Given the description of an element on the screen output the (x, y) to click on. 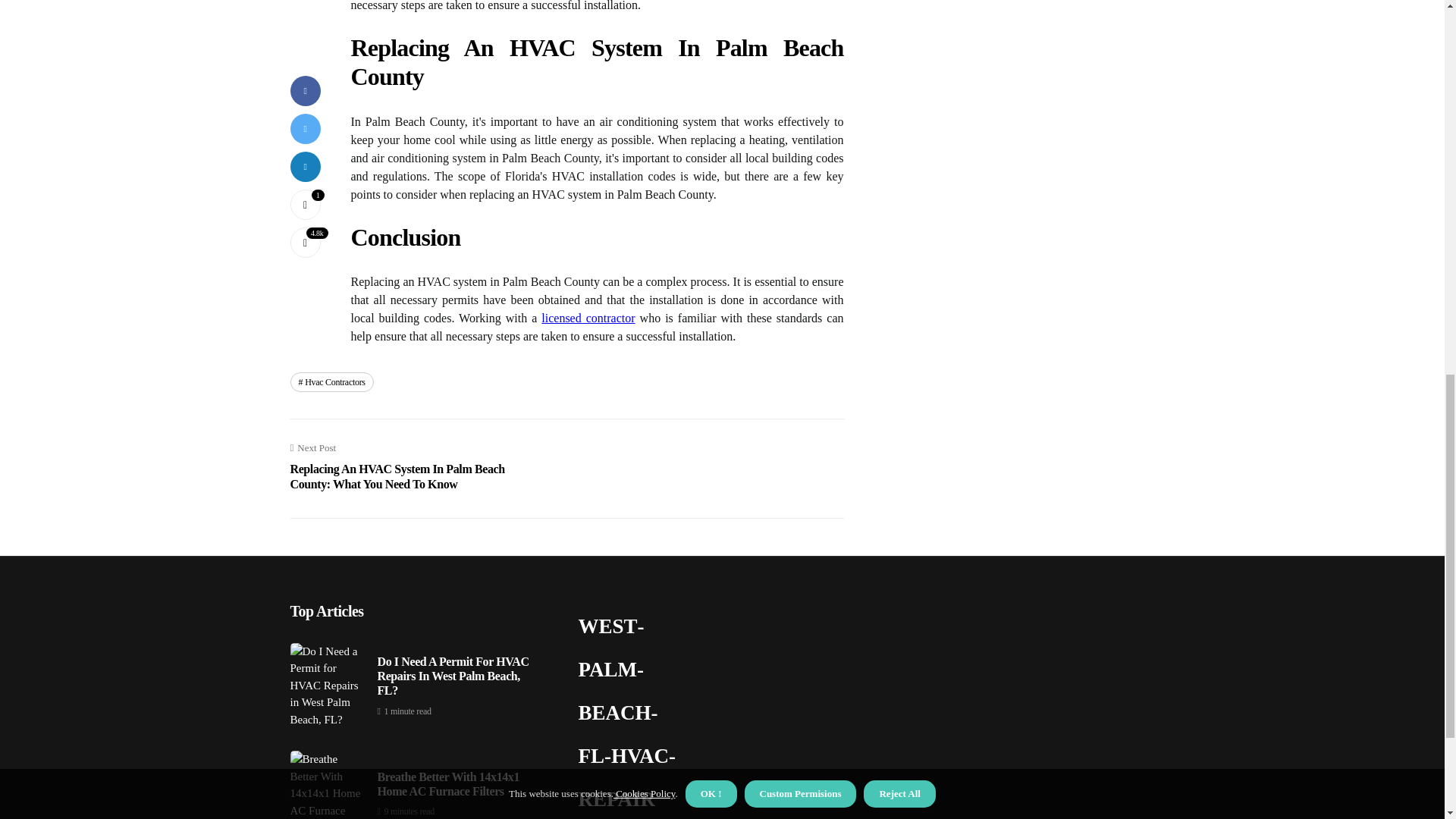
Hvac Contractors (330, 382)
licensed contractor (587, 318)
